Given the description of an element on the screen output the (x, y) to click on. 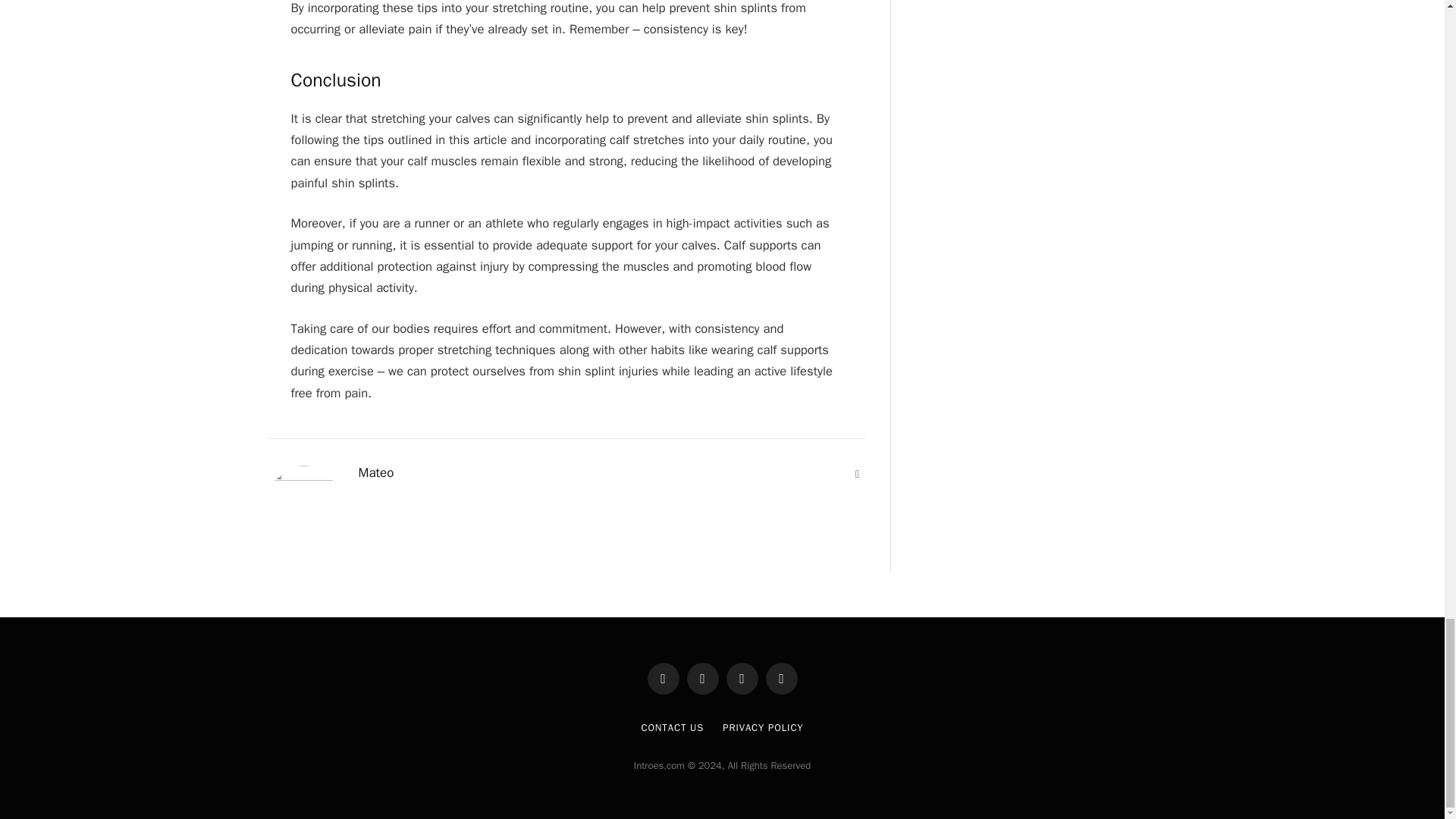
Website (856, 474)
Website (856, 474)
Posts by Mateo (375, 473)
Mateo (375, 473)
